Given the description of an element on the screen output the (x, y) to click on. 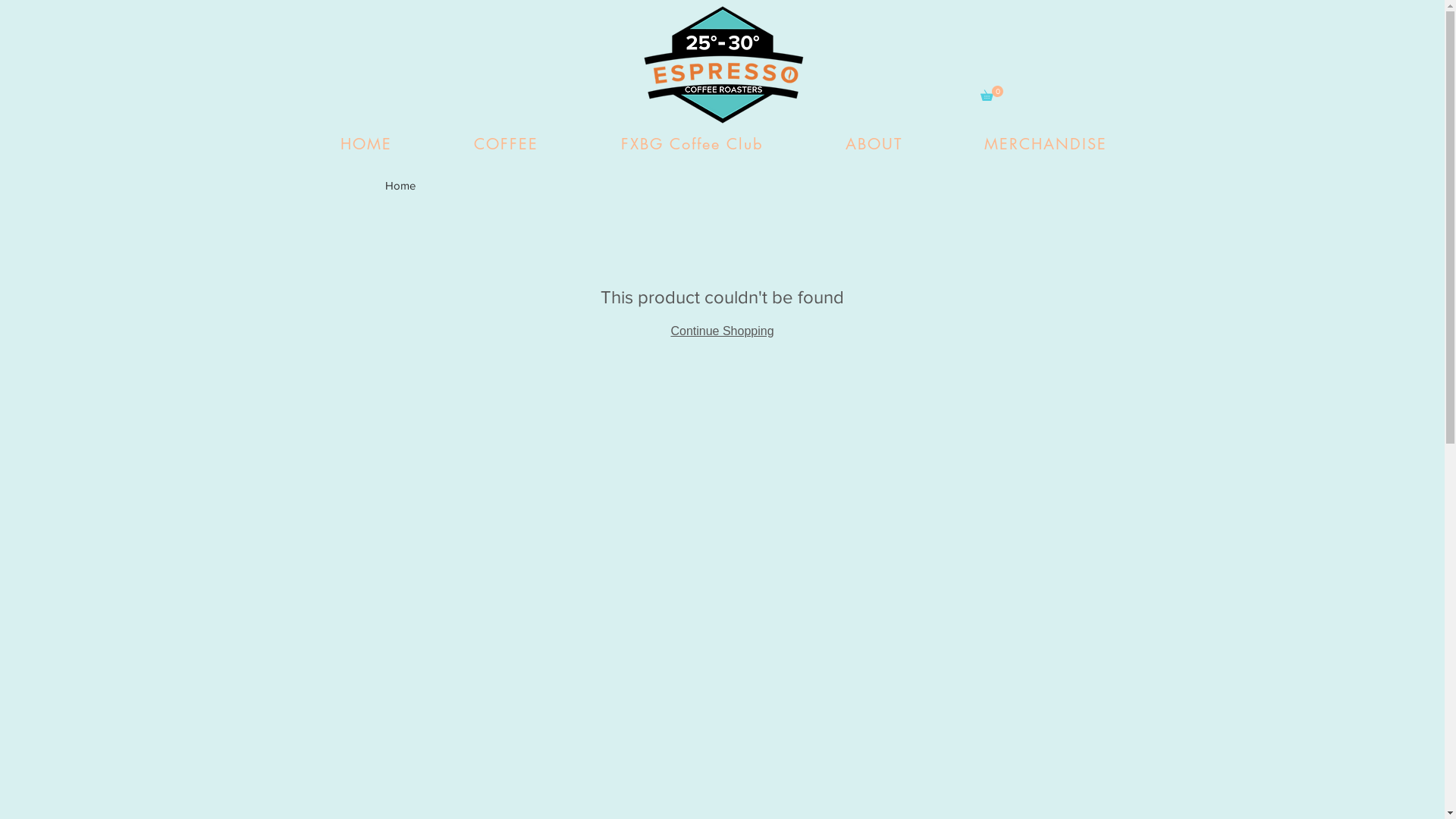
Fredericksburg's best coffee Element type: hover (722, 63)
HOME Element type: text (365, 143)
FXBG Coffee Club Element type: text (691, 143)
COFFEE Element type: text (506, 143)
Home Element type: text (400, 184)
ABOUT Element type: text (873, 143)
Continue Shopping Element type: text (721, 330)
0 Element type: text (990, 92)
MERCHANDISE Element type: text (1045, 143)
